Given the description of an element on the screen output the (x, y) to click on. 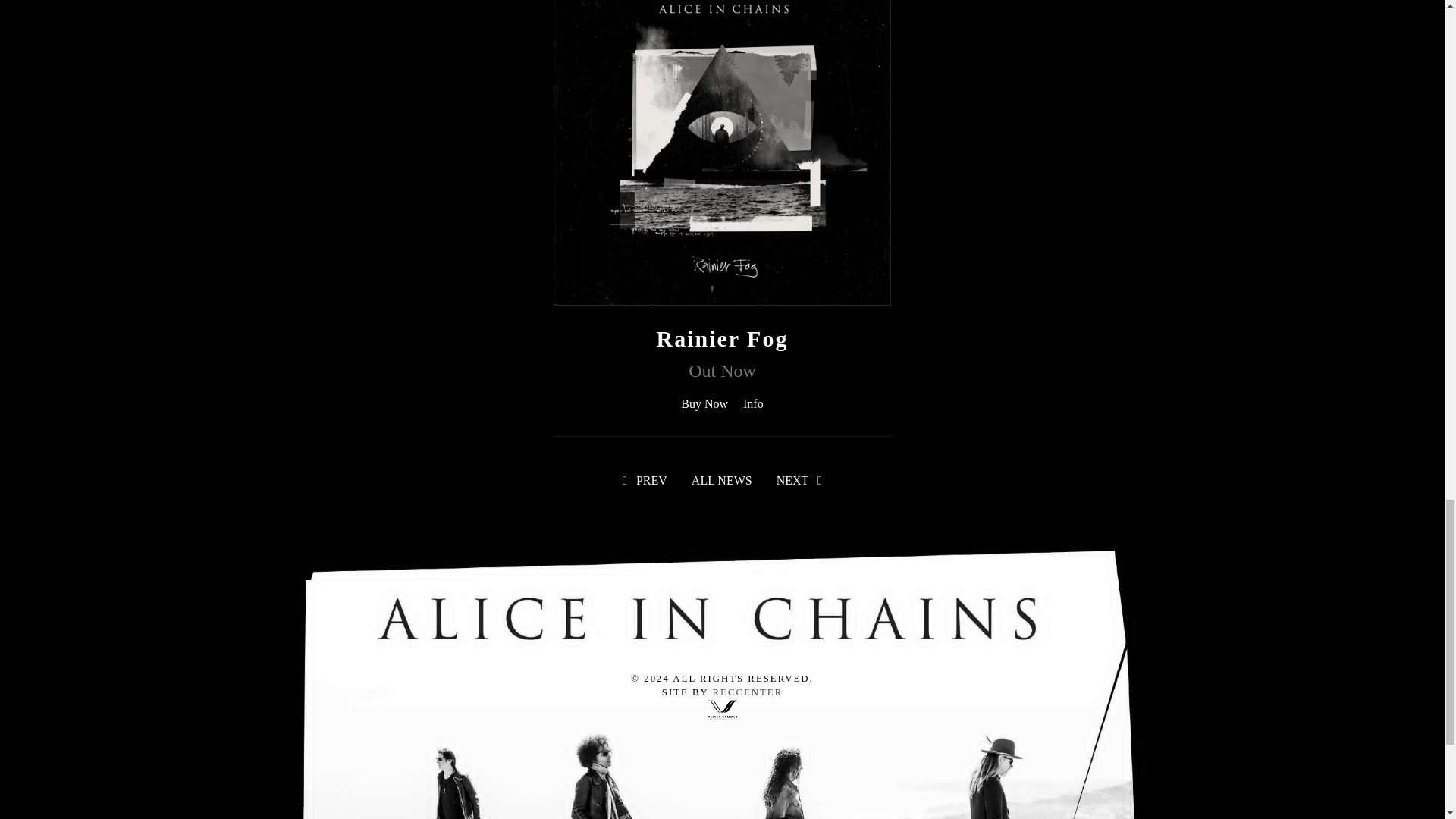
RECCENTER (748, 692)
ALL NEWS (721, 480)
Buy Now (704, 403)
Buy Now (704, 403)
Rainier Fog (721, 338)
Rainier Fog (721, 338)
Rainier Fog (721, 134)
Listen (752, 403)
NEXT   (799, 480)
Info (752, 403)
